Given the description of an element on the screen output the (x, y) to click on. 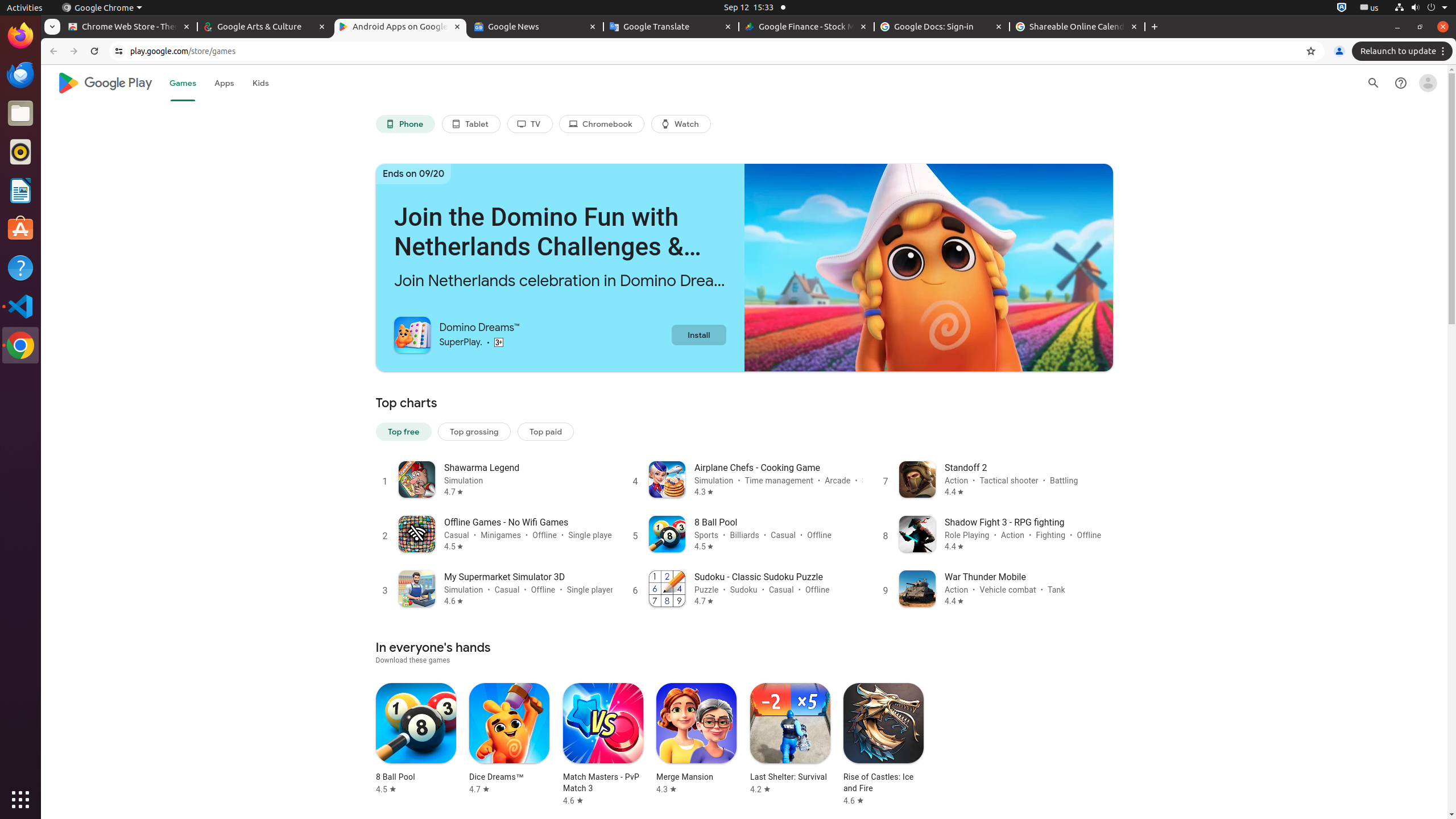
Relaunch to update Element type: push-button (1403, 50)
Apps Element type: page-tab (223, 82)
Bookmark this tab Element type: push-button (1310, 51)
Top paid Element type: toggle-button (545, 431)
